Given the description of an element on the screen output the (x, y) to click on. 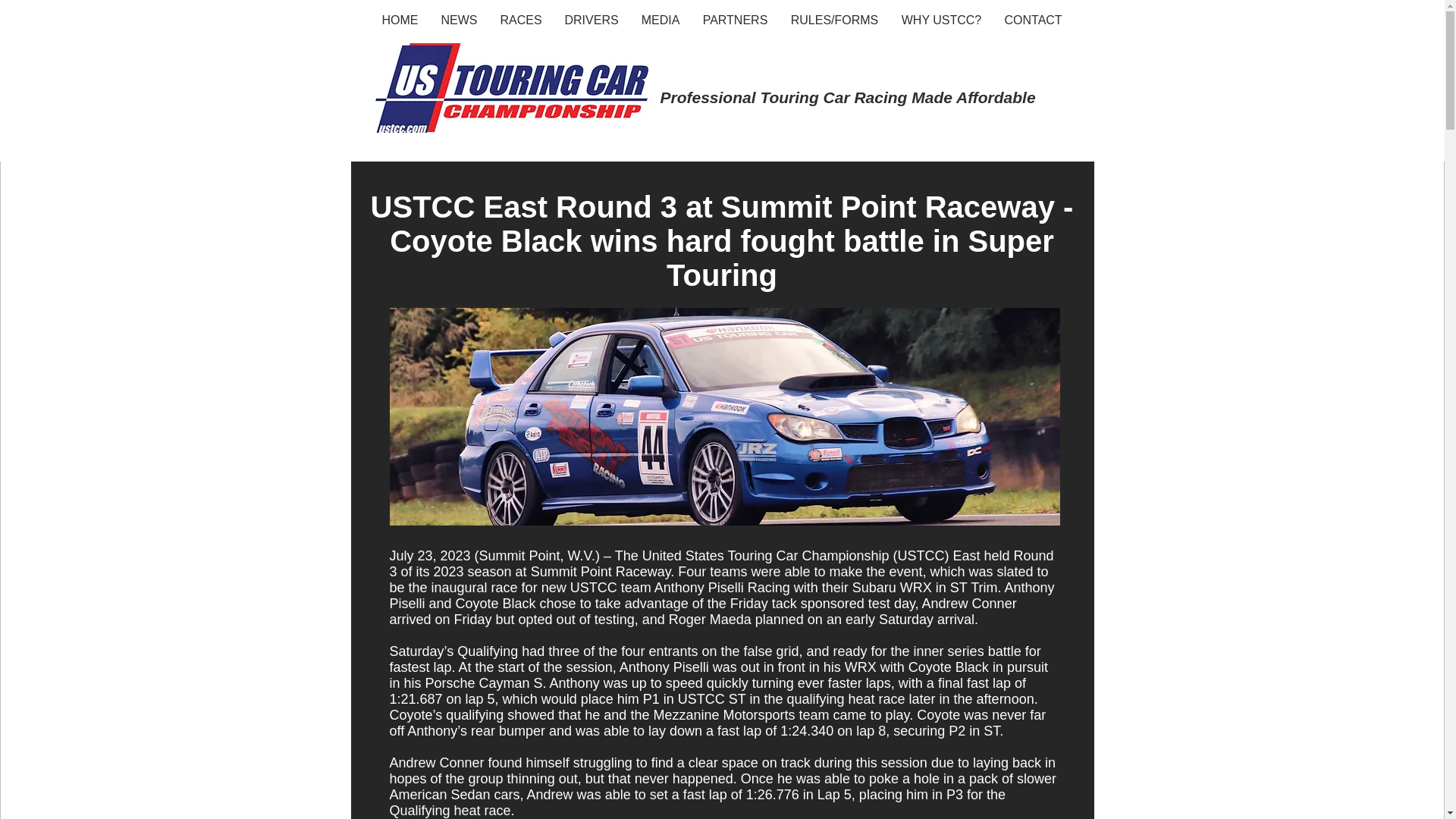
RACES (520, 20)
CONTACT (1033, 20)
NEWS (458, 20)
PARTNERS (734, 20)
MEDIA (659, 20)
WHY USTCC? (940, 20)
DRIVERS (591, 20)
HOME (399, 20)
